Given the description of an element on the screen output the (x, y) to click on. 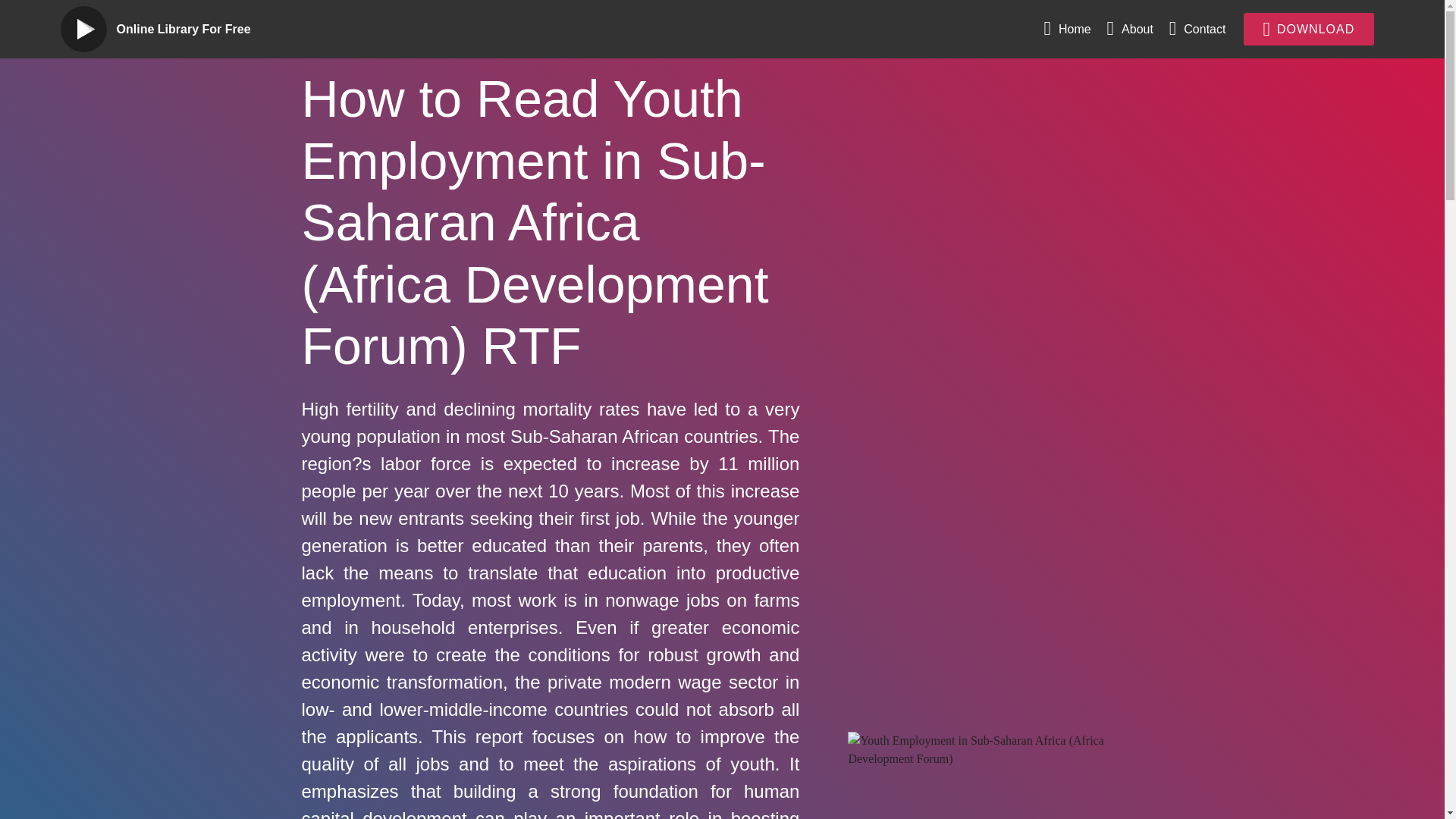
DOWNLOAD (1308, 29)
Contact (1197, 28)
About (1129, 28)
Online Library For Free (195, 29)
Home (1066, 28)
